Given the description of an element on the screen output the (x, y) to click on. 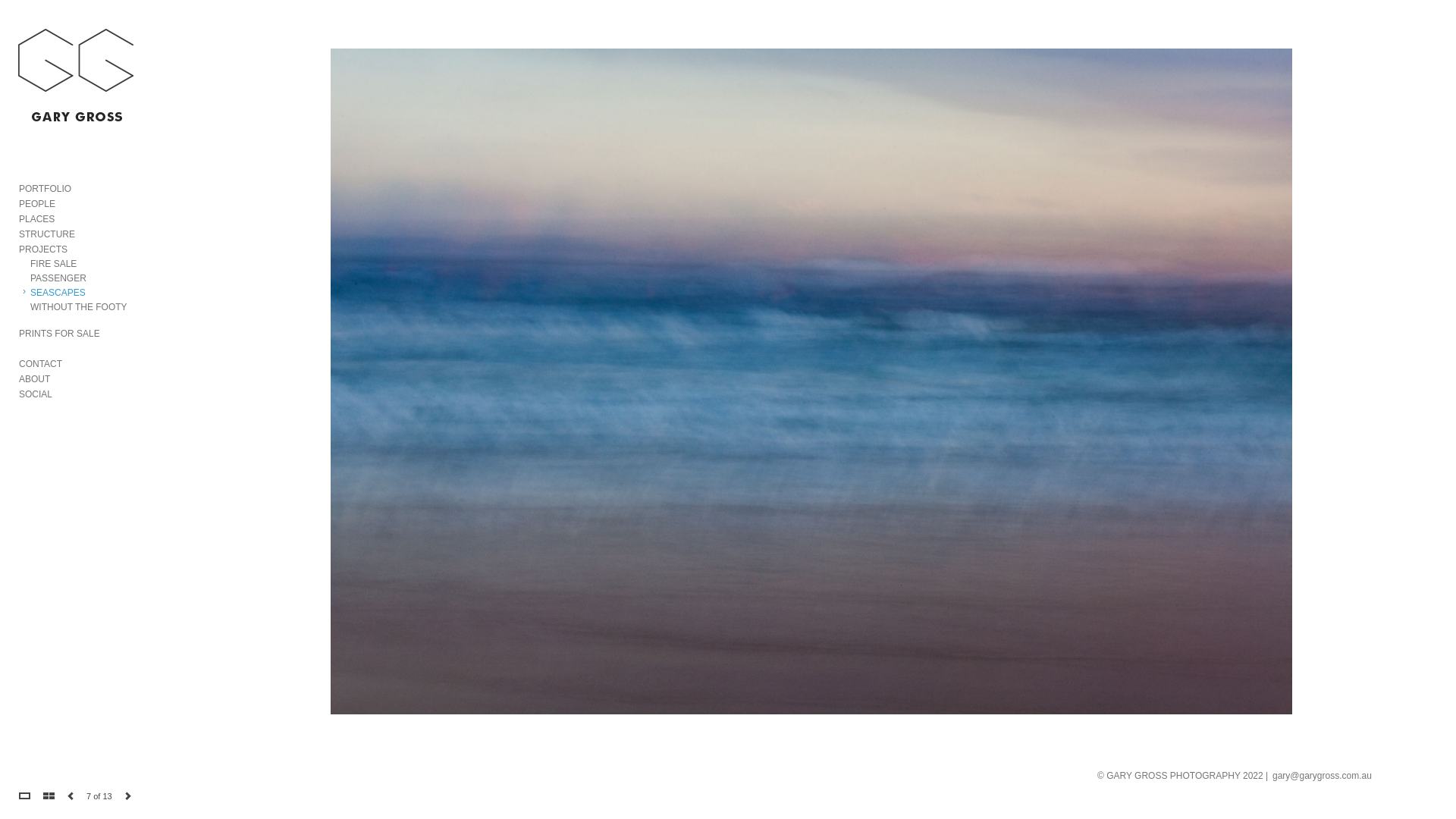
SEASCAPES Element type: text (57, 292)
PROJECTS Element type: text (42, 249)
PEOPLE Element type: text (36, 203)
STRUCTURE Element type: text (46, 234)
PRINTS FOR SALE Element type: text (59, 333)
FIRE SALE Element type: text (53, 263)
PORTFOLIO Element type: text (44, 188)
CONTACT Element type: text (40, 363)
7 of 13 Element type: text (99, 795)
PLACES Element type: text (36, 218)
PASSENGER Element type: text (58, 278)
WITHOUT THE FOOTY Element type: text (78, 306)
ABOUT Element type: text (34, 378)
SOCIAL Element type: text (35, 394)
